Given the description of an element on the screen output the (x, y) to click on. 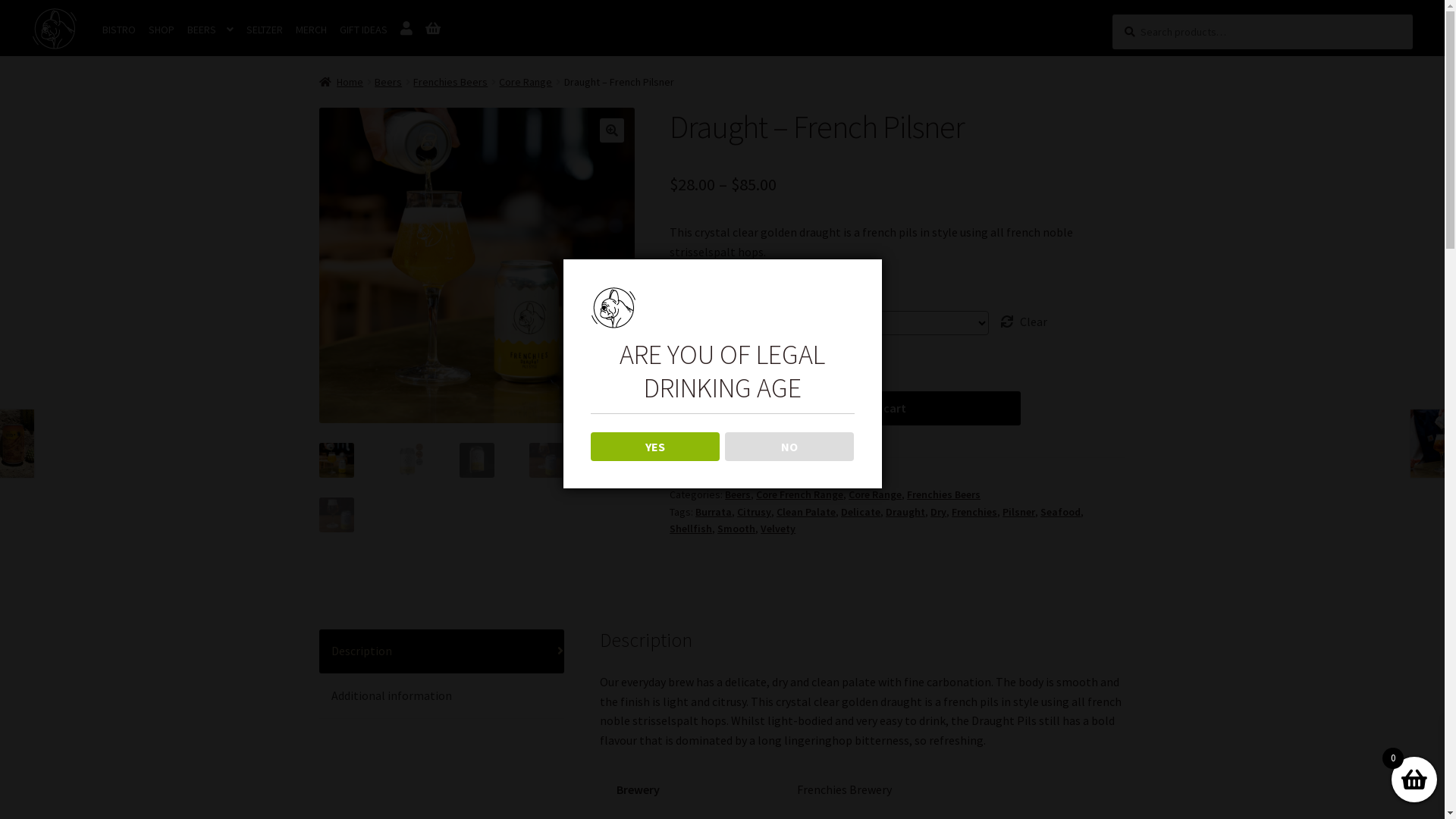
Smooth Element type: text (736, 528)
YES Element type: text (655, 446)
Home Element type: text (341, 81)
Additional information Element type: text (441, 696)
SELTZER Element type: text (264, 30)
GIFT IDEAS Element type: text (363, 30)
Dry Element type: text (938, 511)
Frenchies Draught Element type: hover (792, 265)
Seafood Element type: text (1060, 511)
Core Range Element type: text (525, 81)
Skip to navigation Element type: text (31, 6)
Clear Element type: text (1024, 322)
Citrusy Element type: text (754, 511)
Pilsner Element type: text (1018, 511)
Add to cart Element type: text (875, 408)
Frenchies Beers Element type: text (943, 494)
Core French Range Element type: text (799, 494)
BISTRO Element type: text (119, 30)
BEERS Element type: text (210, 30)
Frenchies Element type: text (974, 511)
Frenchies Draught Element type: hover (476, 265)
MERCH Element type: text (311, 30)
Beers Element type: text (737, 494)
Burrata Element type: text (713, 511)
Frenchies Beers Element type: text (450, 81)
Delicate Element type: text (860, 511)
Beers Element type: text (387, 81)
Clean Palate Element type: text (805, 511)
Draught Element type: text (905, 511)
Velvety Element type: text (777, 528)
Search Element type: text (1111, 13)
Core Range Element type: text (874, 494)
SHOP Element type: text (161, 30)
Shellfish Element type: text (690, 528)
Description Element type: text (441, 651)
NO Element type: text (789, 446)
